Given the description of an element on the screen output the (x, y) to click on. 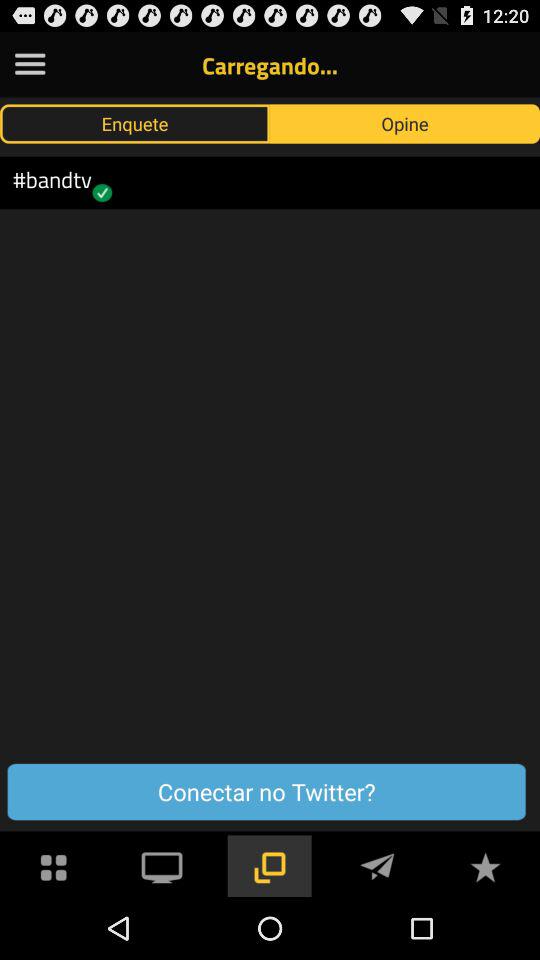
flip to opine icon (405, 123)
